Given the description of an element on the screen output the (x, y) to click on. 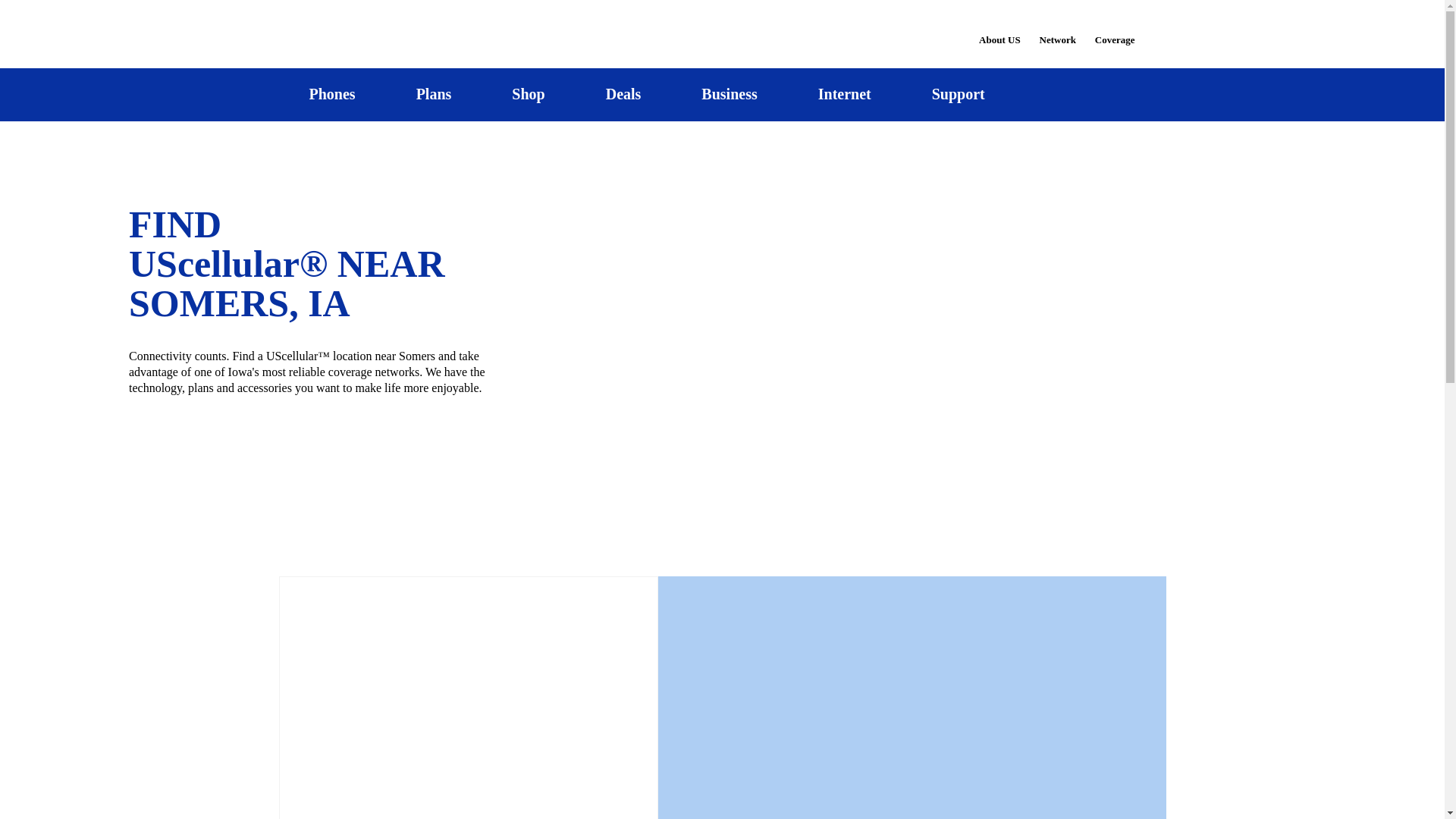
Deals (623, 94)
Coverage (1115, 29)
Shop (528, 94)
About US (999, 30)
Network (1057, 30)
Support (957, 94)
Phones (332, 94)
Plans (433, 94)
Business (729, 94)
Internet (844, 94)
